Given the description of an element on the screen output the (x, y) to click on. 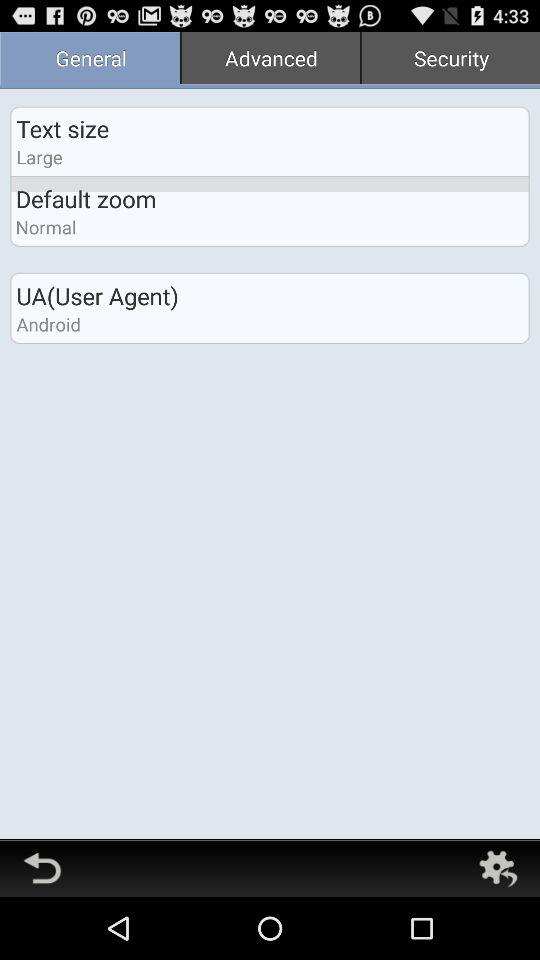
press the app next to security item (270, 60)
